Given the description of an element on the screen output the (x, y) to click on. 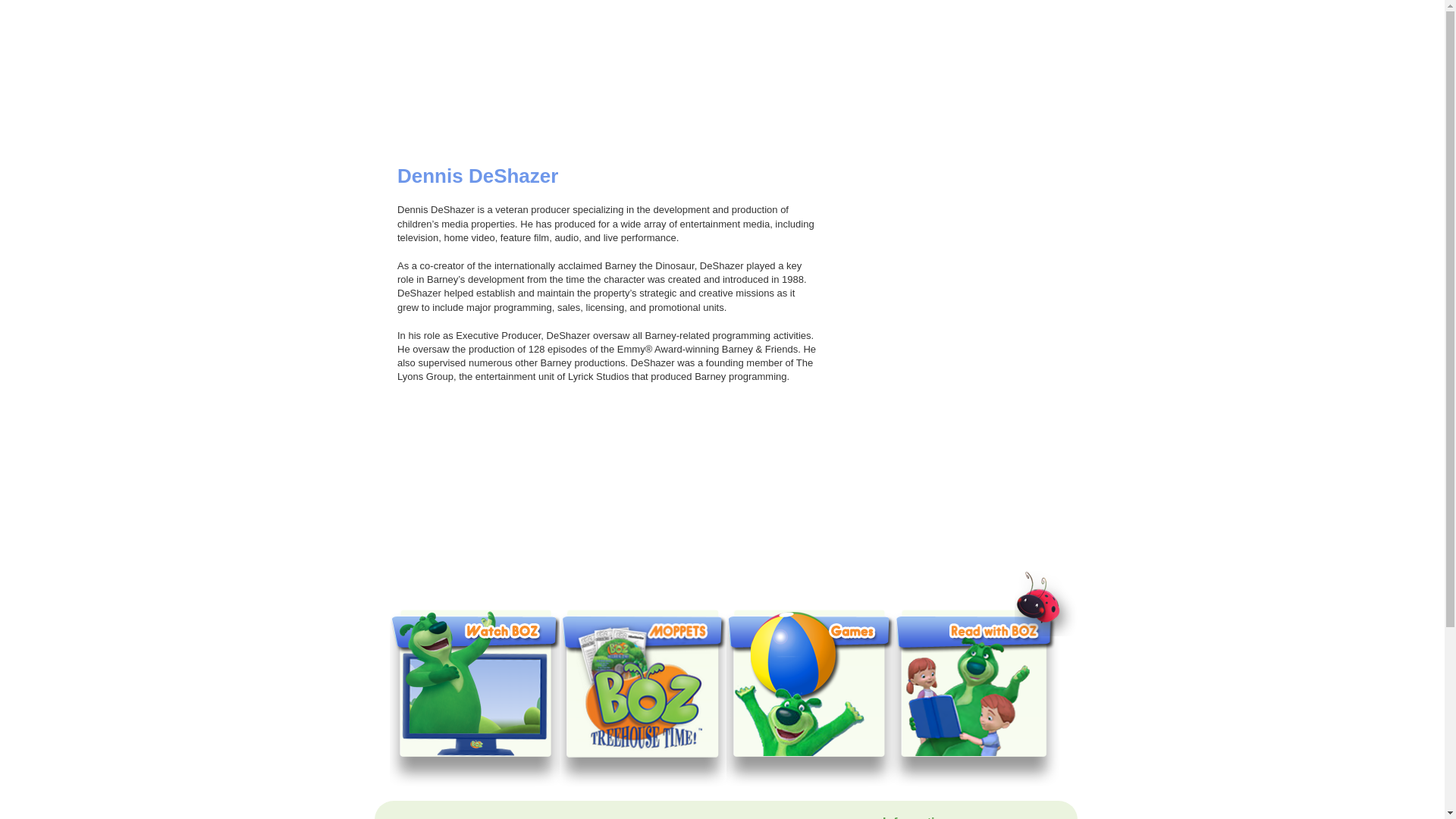
About BOZ (555, 74)
BOZ Store (940, 102)
Parents' Place (812, 74)
Fun with BOZ (683, 74)
